Given the description of an element on the screen output the (x, y) to click on. 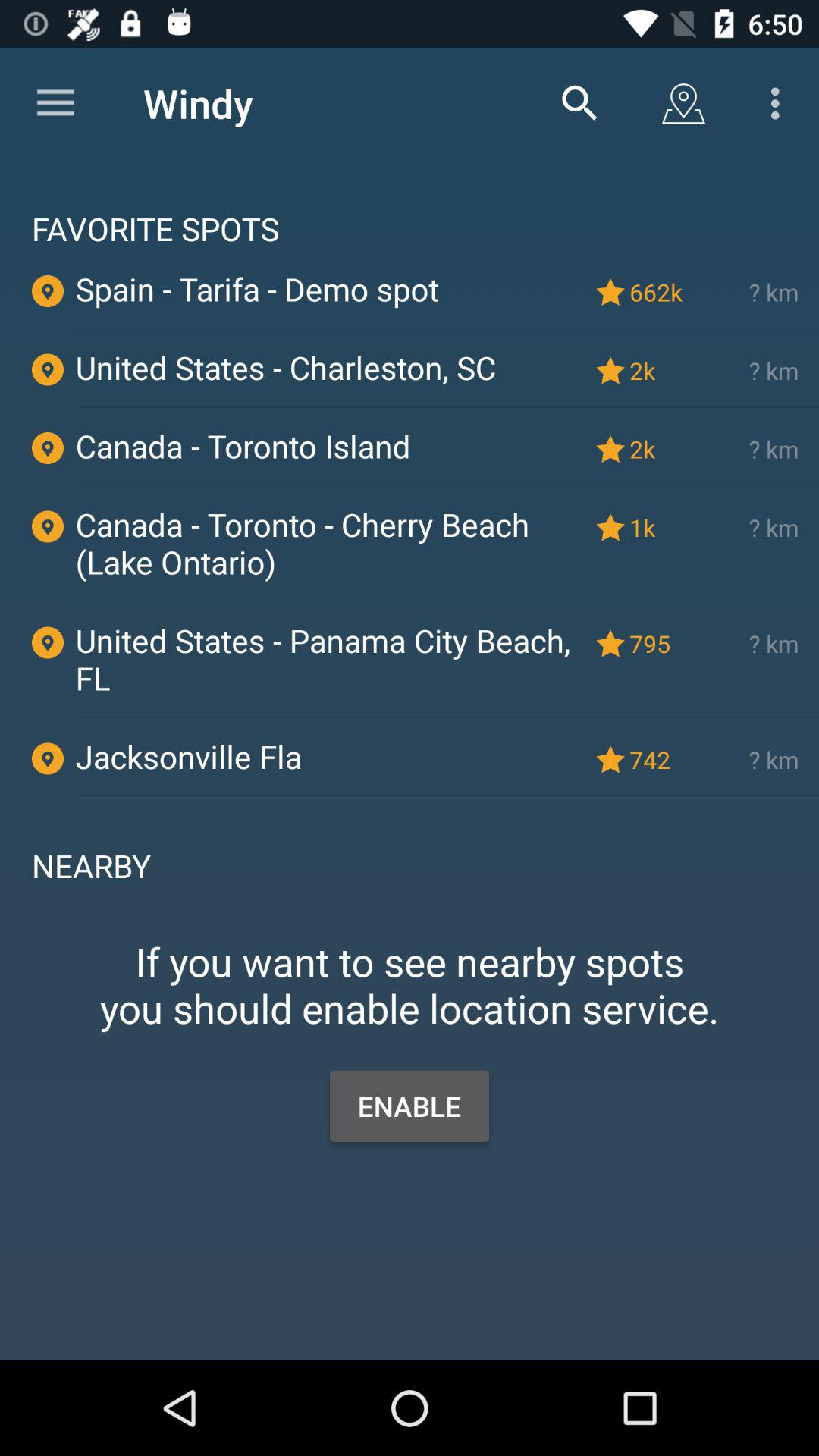
select the favorite spots (409, 204)
